Given the description of an element on the screen output the (x, y) to click on. 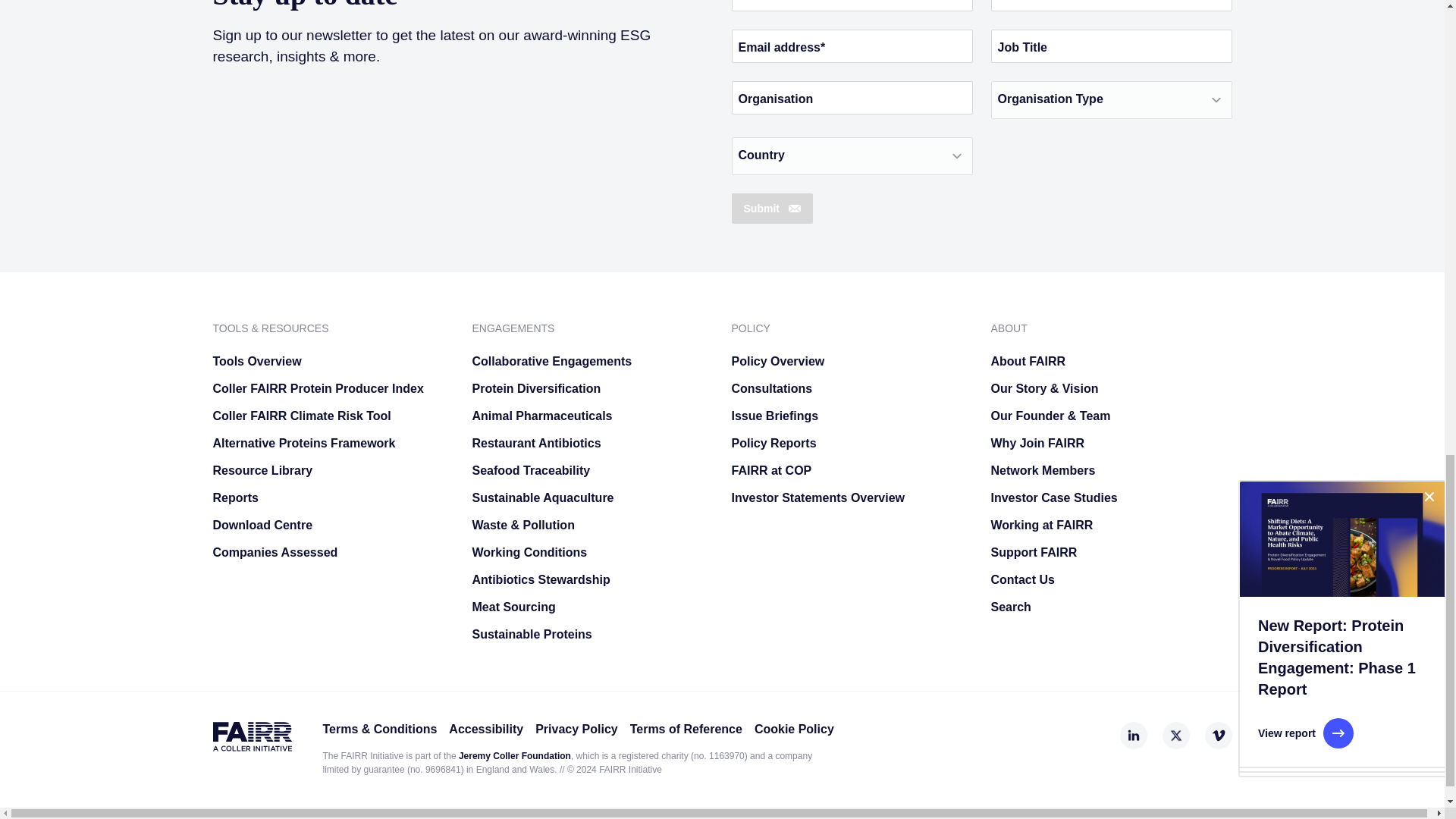
Resource Library (332, 470)
Alternative Proteins Framework (332, 443)
Collaborative Engagements (592, 361)
Download Centre (332, 525)
Protein Diversification (592, 388)
Sustainable Aquaculture (592, 498)
Restaurant Antibiotics (592, 443)
Tools Overview (332, 361)
Seafood Traceability (592, 470)
Companies Assessed (332, 552)
